Given the description of an element on the screen output the (x, y) to click on. 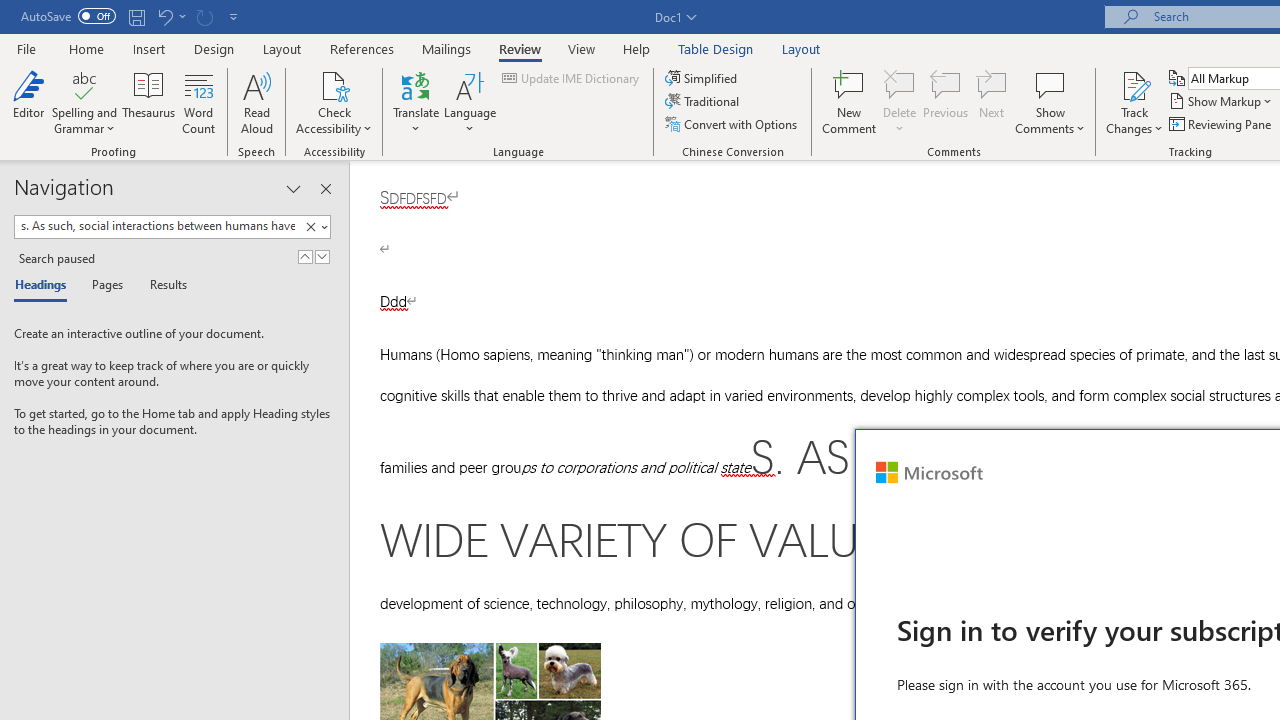
Can't Repeat (204, 15)
Spelling and Grammar (84, 102)
Convert with Options... (732, 124)
Show Comments (1050, 102)
Track Changes (1134, 102)
Update IME Dictionary... (572, 78)
Show Markup (1222, 101)
New Comment (849, 102)
Spelling and Grammar (84, 84)
